Given the description of an element on the screen output the (x, y) to click on. 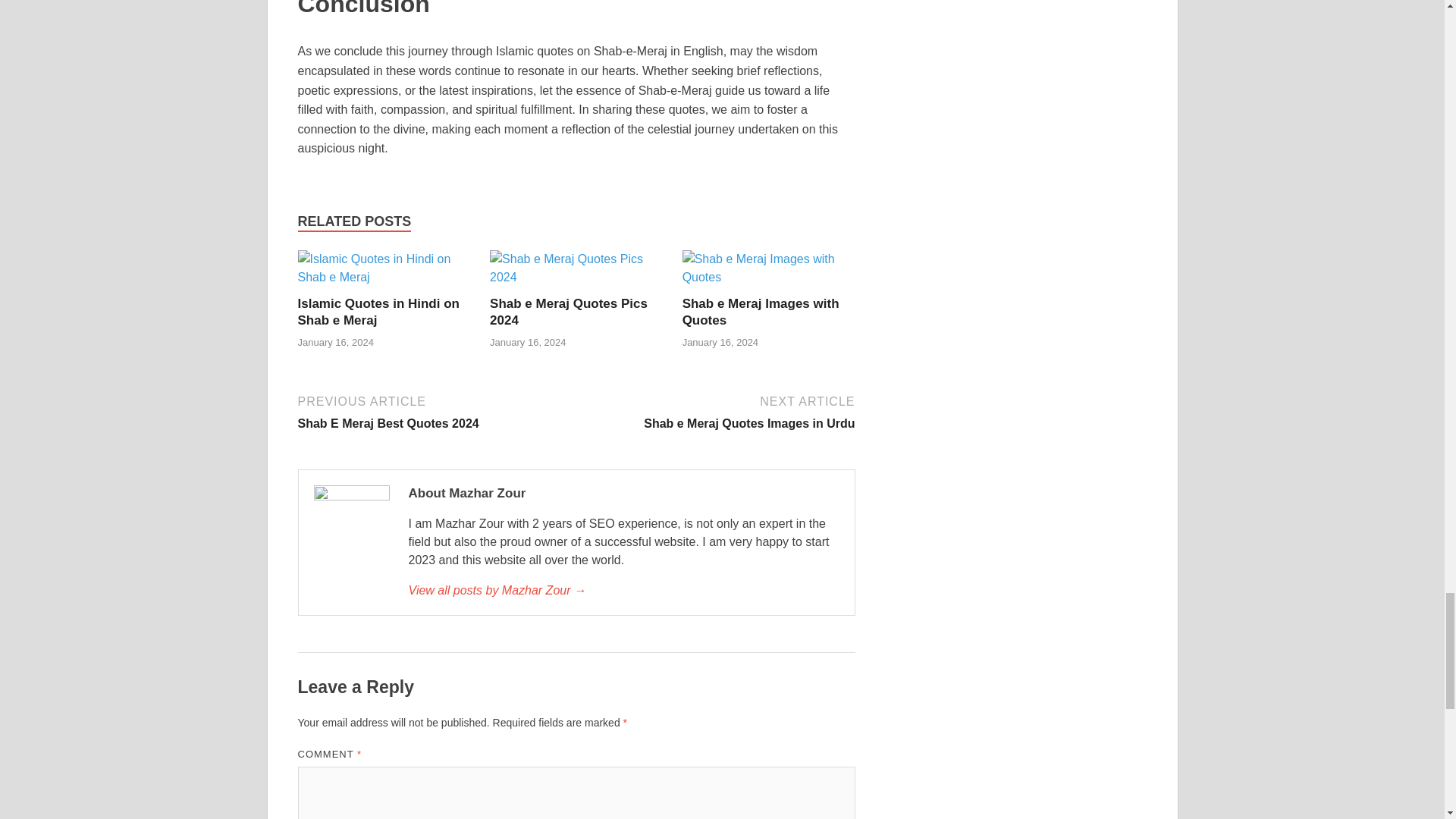
Shab e Meraj Quotes Pics 2024 (575, 277)
Shab e Meraj Images with Quotes (761, 310)
Islamic Quotes in Hindi on Shab e Meraj (383, 277)
Islamic Quotes in Hindi on Shab e Meraj (377, 310)
Mazhar Zour (622, 590)
Shab e Meraj Images with Quotes (769, 277)
Shab e Meraj Quotes Pics 2024 (568, 310)
